Given the description of an element on the screen output the (x, y) to click on. 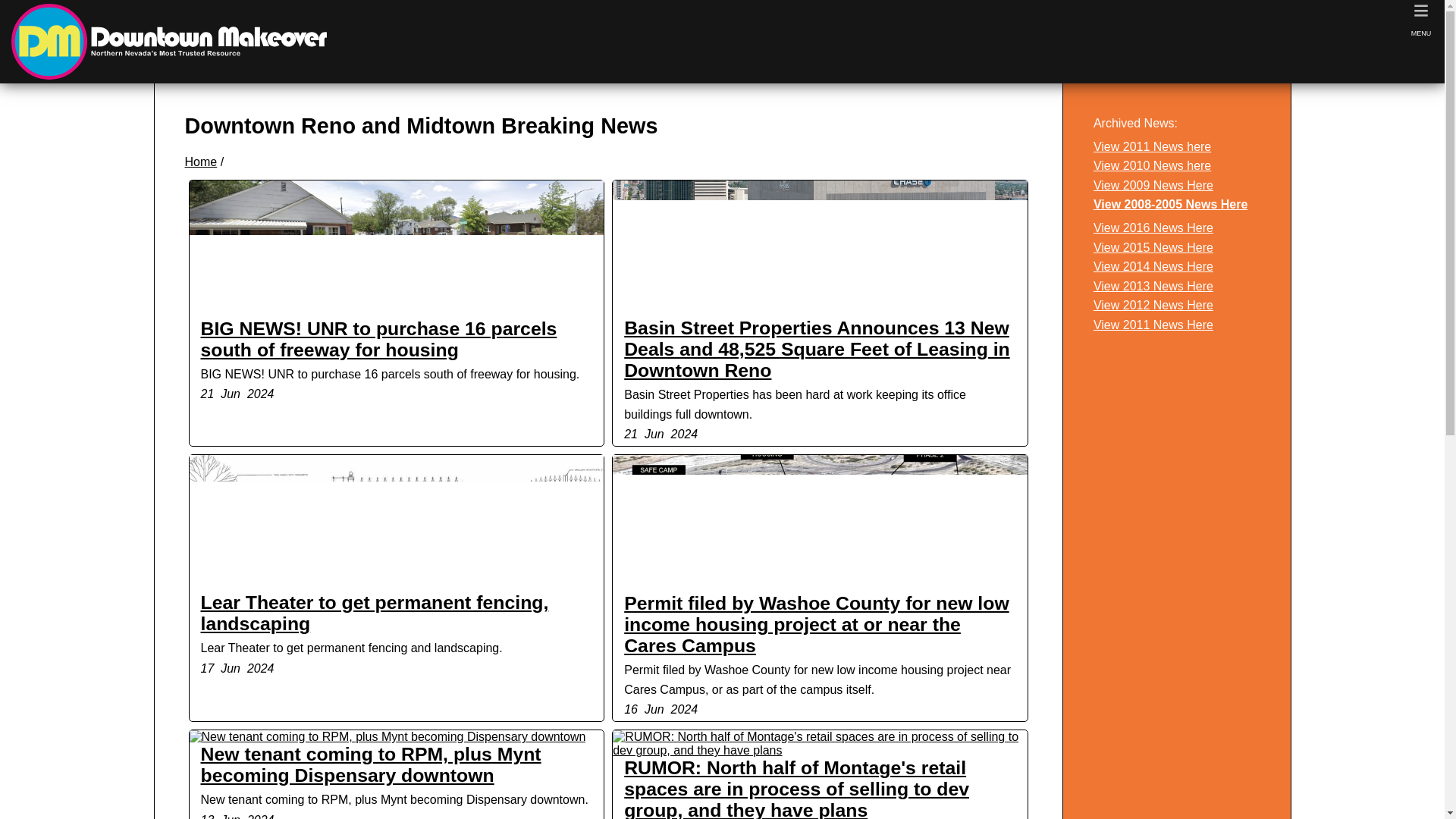
Lear Theater to get permanent fencing, landscaping (396, 523)
View 2009 News Here (1152, 185)
Home (200, 161)
